Given the description of an element on the screen output the (x, y) to click on. 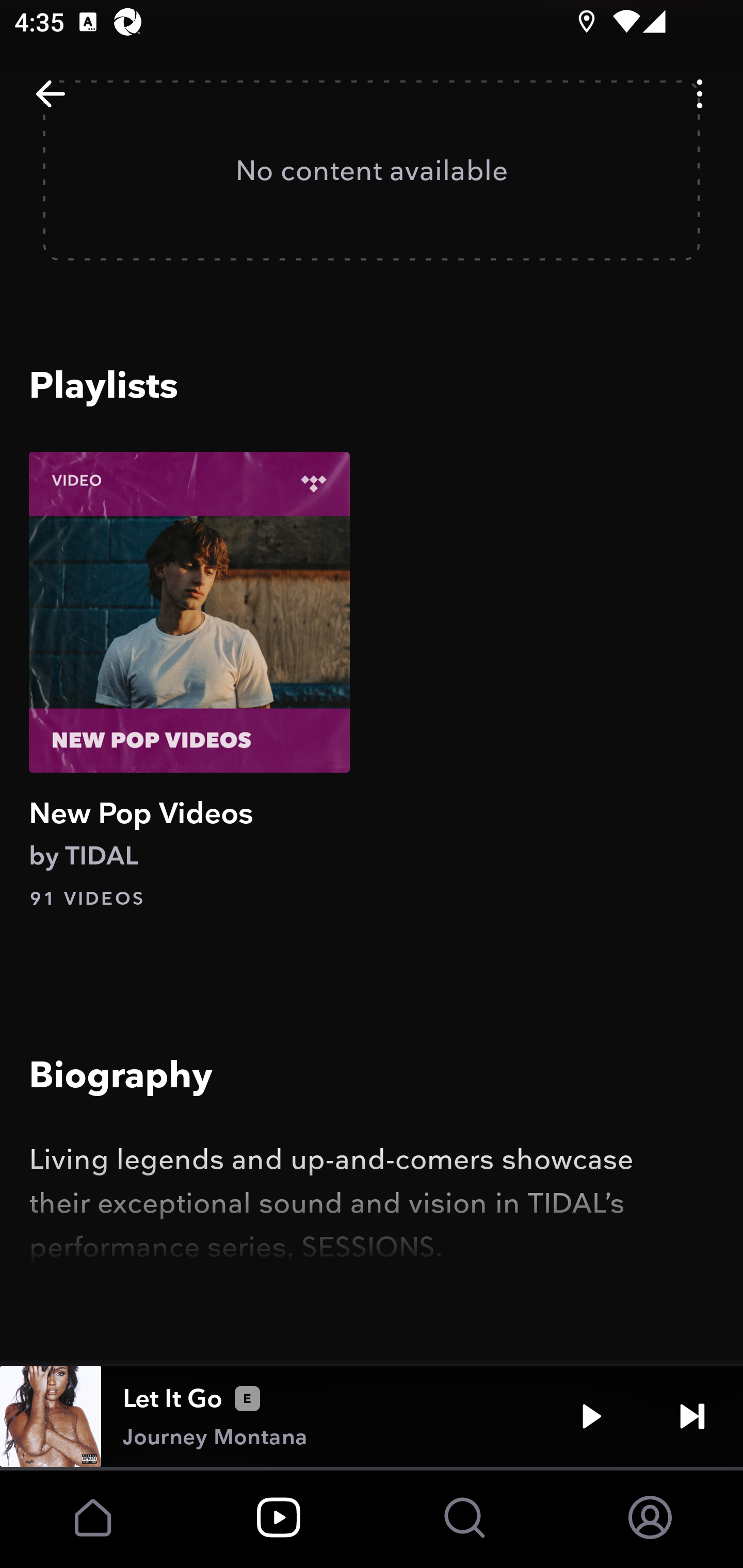
Options (699, 93)
New Pop Videos by TIDAL 91 VIDEOS (188, 681)
Let It Go    Journey Montana Play (371, 1416)
Play (590, 1416)
